Given the description of an element on the screen output the (x, y) to click on. 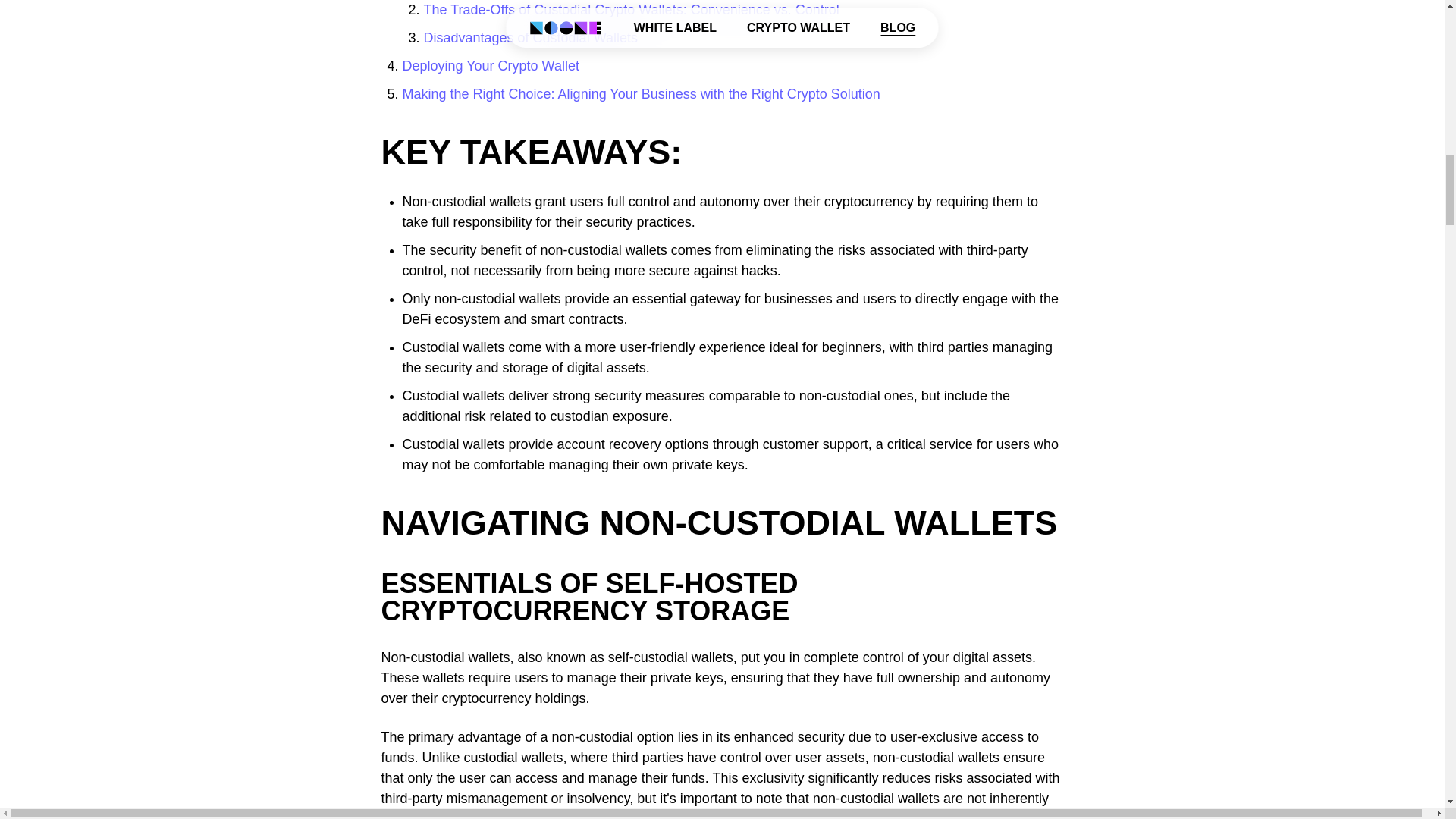
Deploying Your Crypto Wallet (489, 65)
Disadvantages of Custodial Wallets (530, 37)
